Given the description of an element on the screen output the (x, y) to click on. 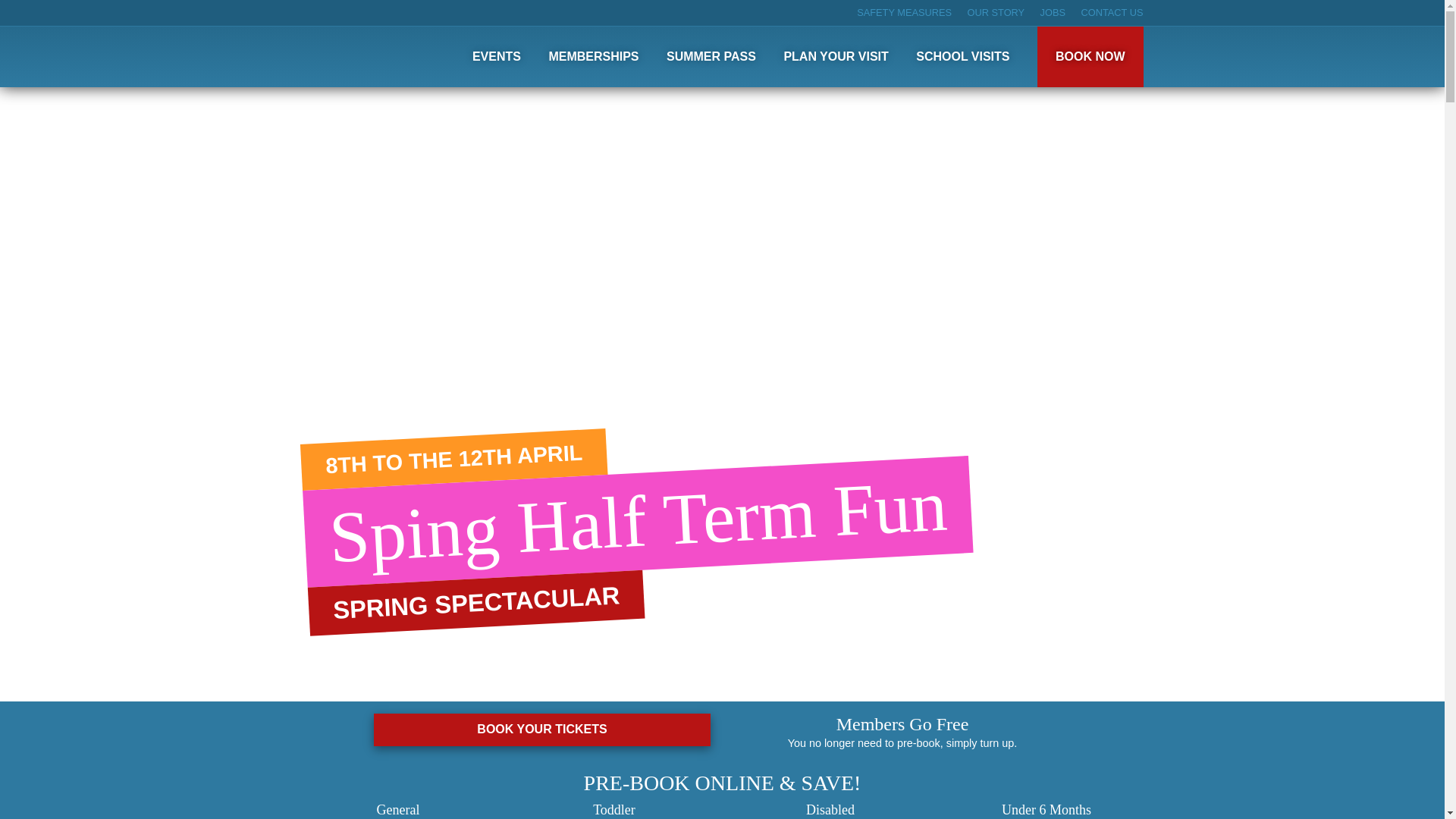
SCHOOL VISITS (962, 56)
BOOK NOW (1089, 56)
CONTACT US (1111, 12)
PLAN YOUR VISIT (835, 56)
SUMMER PASS (710, 56)
Marsh Farm - Animal Adventure Park (392, 60)
JOBS (1053, 12)
MEMBERSHIPS (593, 56)
BOOK YOUR TICKETS (541, 729)
OUR STORY (996, 12)
SAFETY MEASURES (904, 12)
